Given the description of an element on the screen output the (x, y) to click on. 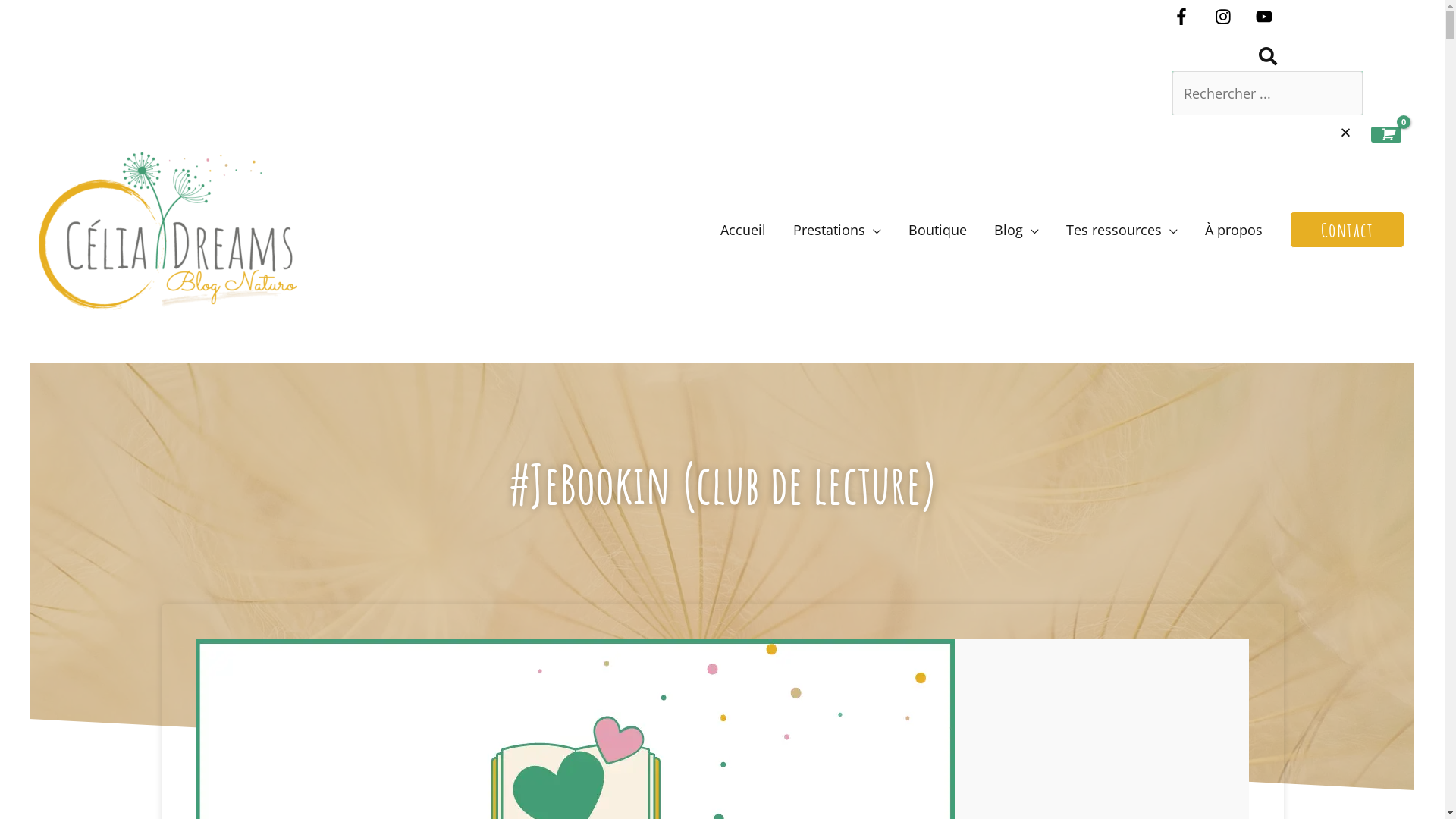
Contact Element type: text (1346, 229)
Tes ressources Element type: text (1121, 229)
Boutique Element type: text (937, 229)
Accueil Element type: text (742, 229)
Blog Element type: text (1015, 229)
Prestations Element type: text (836, 229)
